Given the description of an element on the screen output the (x, y) to click on. 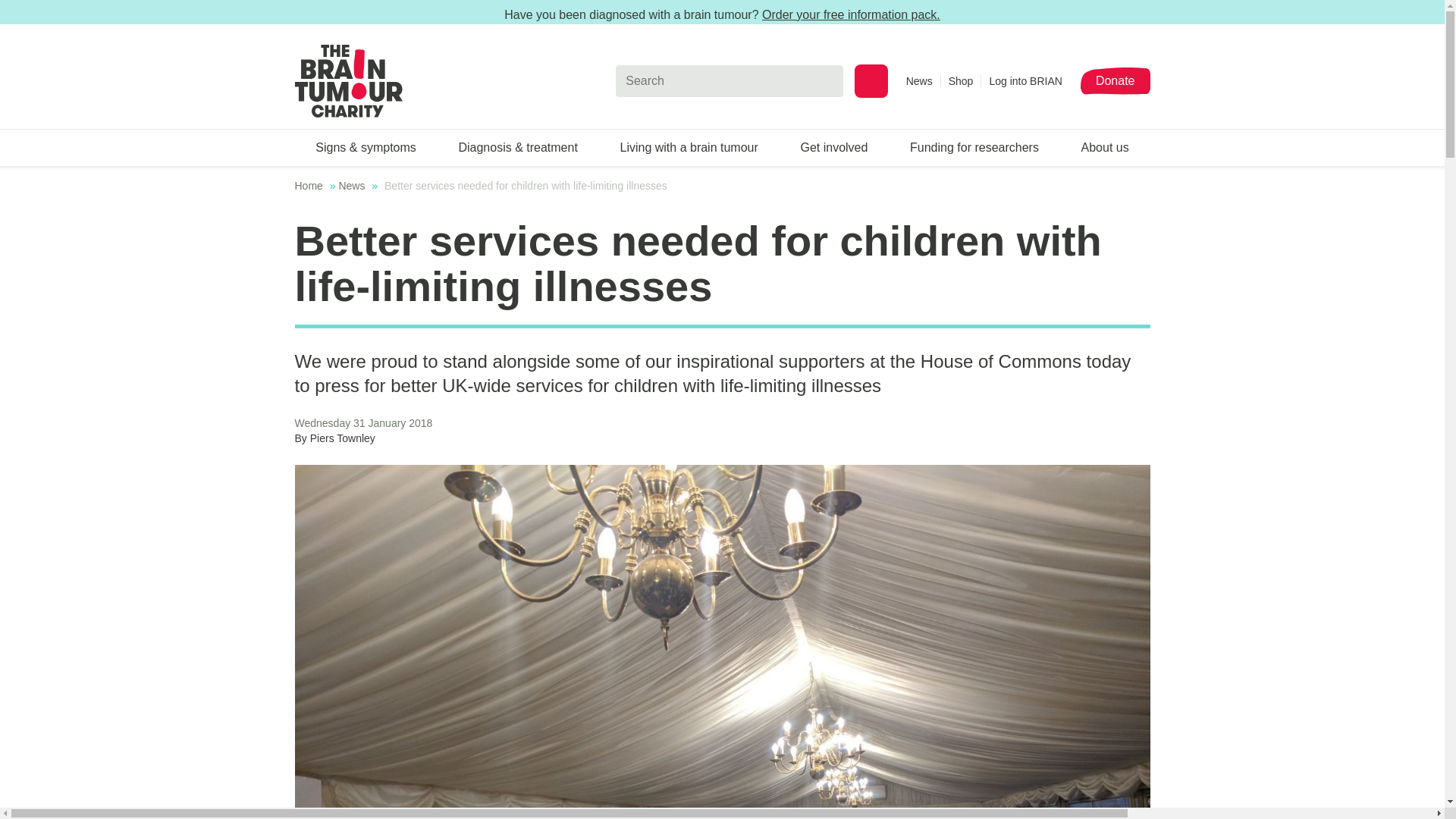
Shop (965, 80)
Order your free information pack. (850, 14)
News (922, 80)
Donate (1115, 81)
Log into BRIAN (1025, 80)
